Given the description of an element on the screen output the (x, y) to click on. 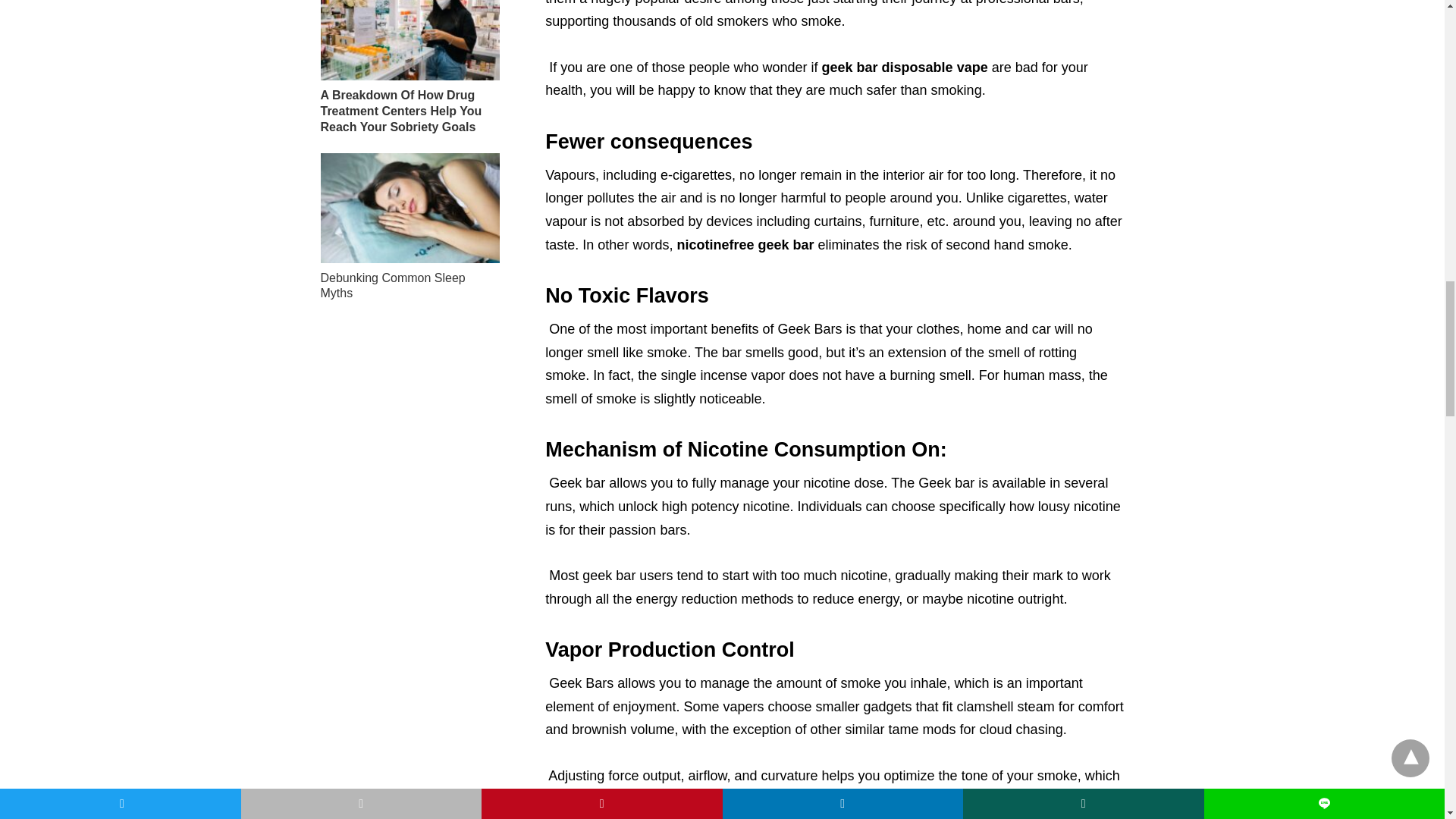
Debunking Common Sleep Myths (392, 285)
Debunking Common Sleep Myths (392, 285)
Debunking Common Sleep Myths (409, 207)
